Given the description of an element on the screen output the (x, y) to click on. 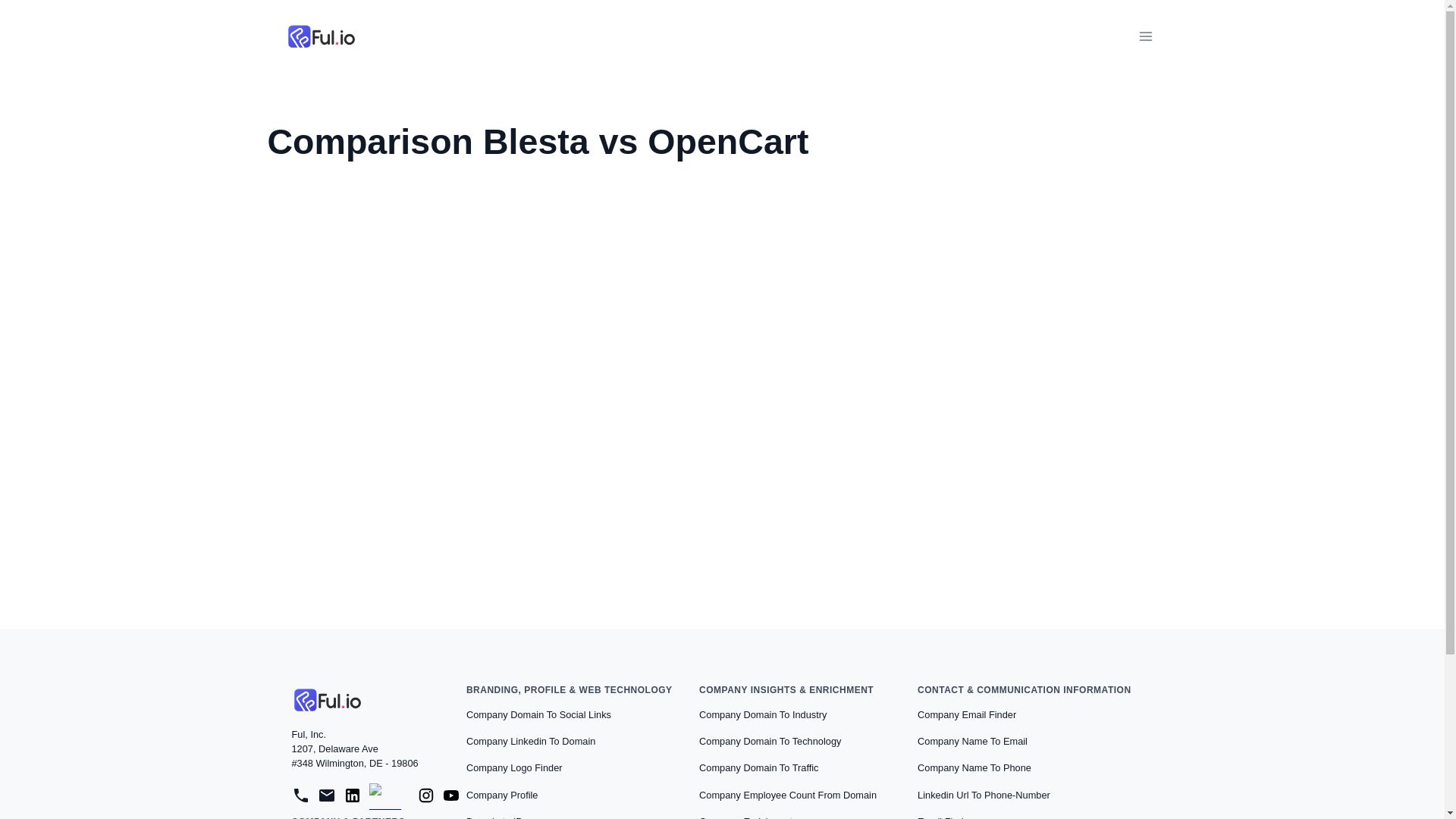
Company Domain To Technology (770, 741)
Email Finder (944, 813)
Company Domain To Traffic (758, 767)
Company Email Finder (966, 714)
Domain to IP (494, 813)
Company Logo Finder (514, 767)
Company Name To Email (972, 741)
Company Name To Phone (973, 767)
Company Domain To Industry (762, 714)
Company Profile (502, 795)
Company Linkedin To Domain (530, 741)
Company Employee Count From Domain (787, 795)
Company Domain To Social Links (538, 714)
Linkedin Url To Phone-Number (984, 795)
Company Enrichment (745, 813)
